Given the description of an element on the screen output the (x, y) to click on. 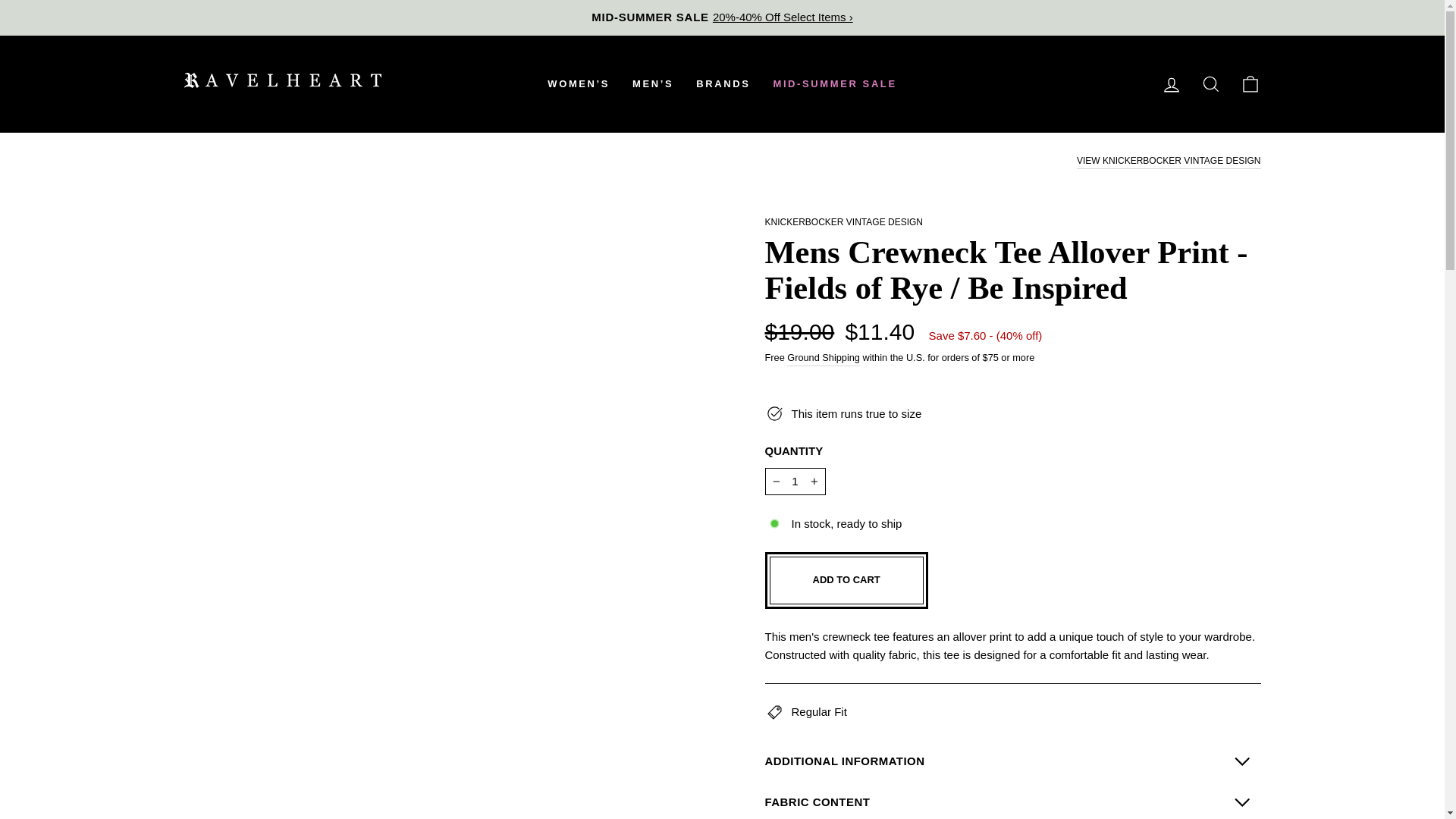
1 (794, 481)
